Given the description of an element on the screen output the (x, y) to click on. 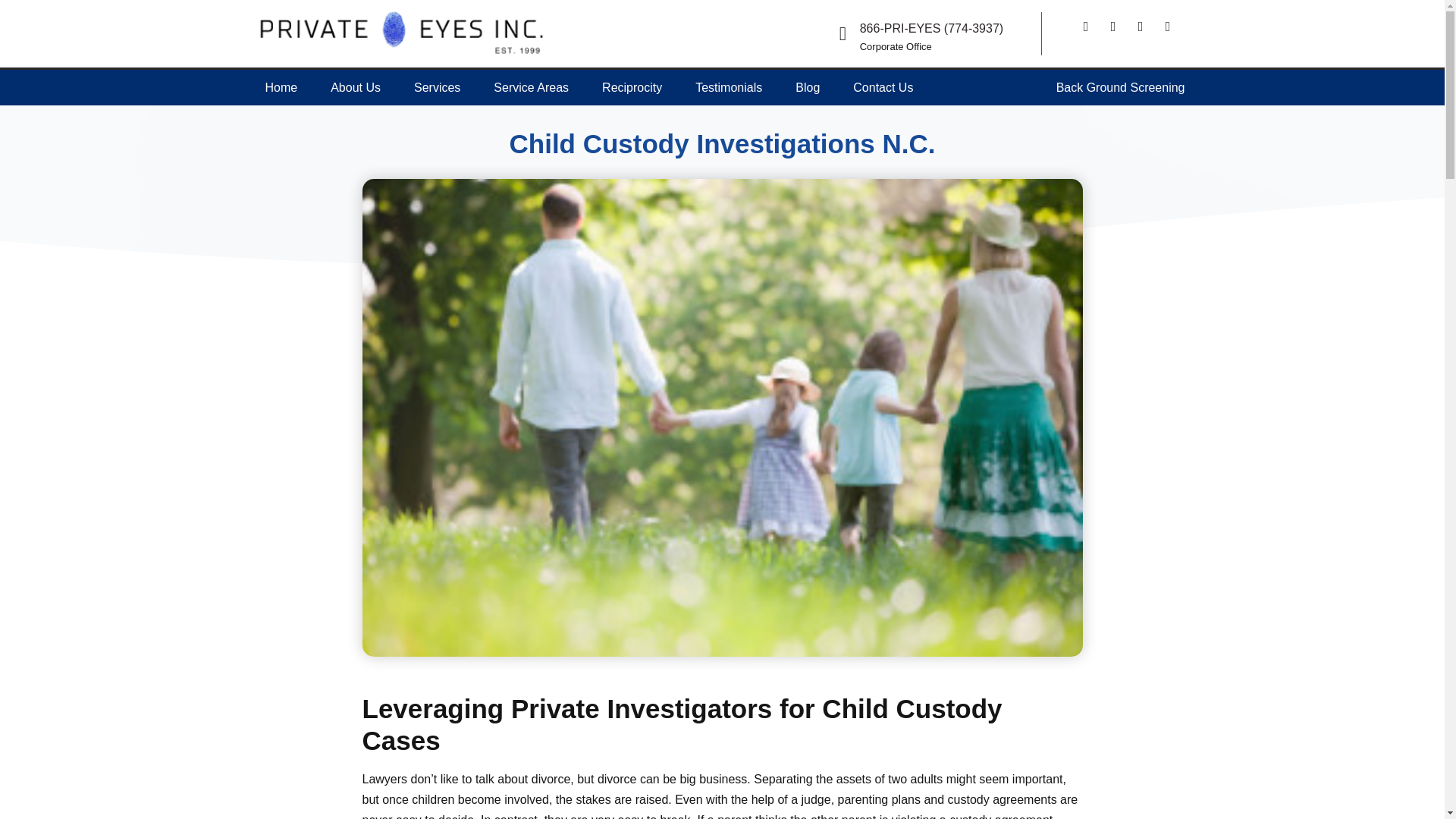
Services (437, 87)
About Us (355, 87)
Home (281, 87)
